Given the description of an element on the screen output the (x, y) to click on. 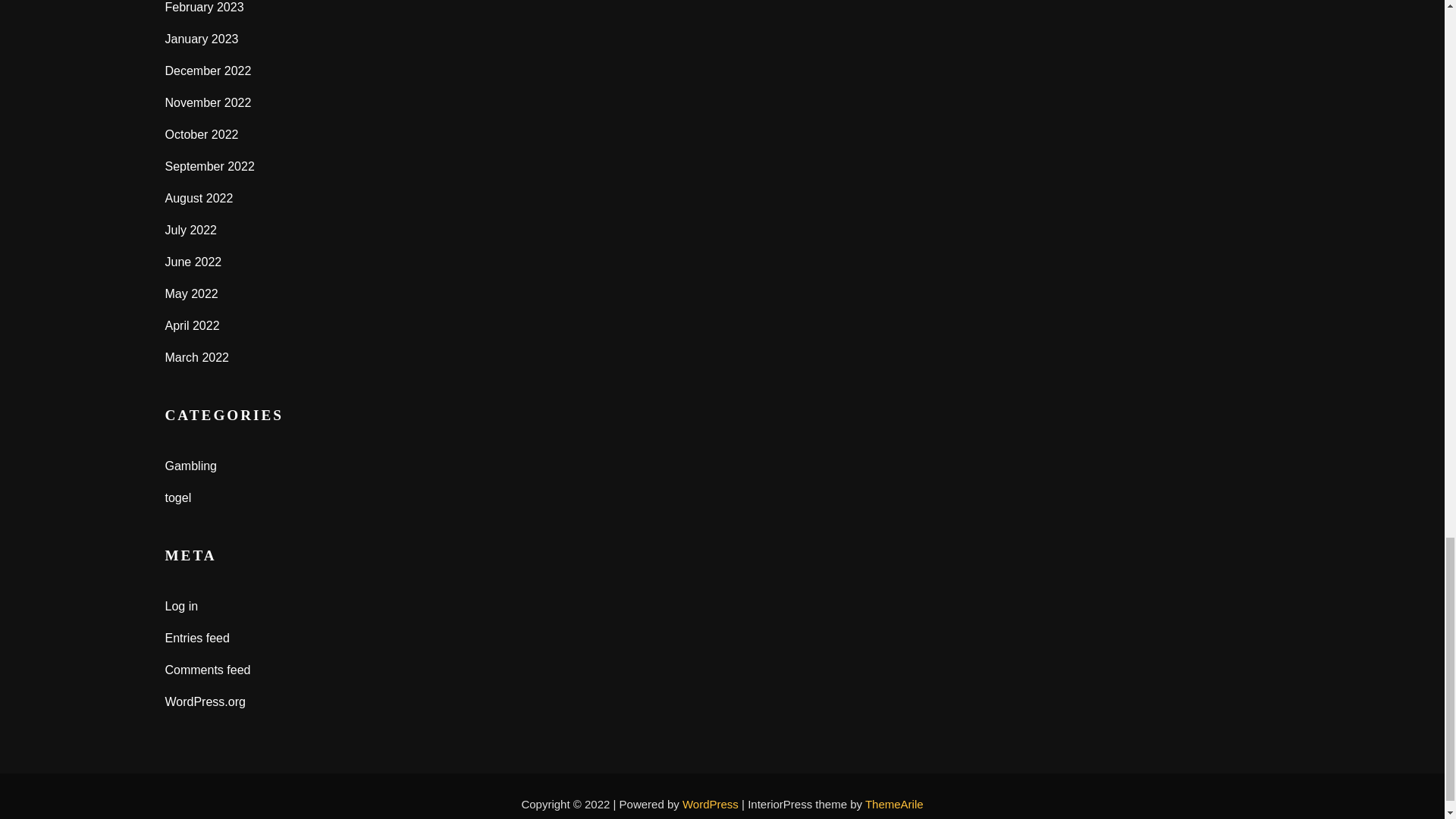
January 2023 (201, 38)
February 2023 (204, 6)
August 2022 (198, 197)
September 2022 (209, 165)
Gambling (190, 465)
April 2022 (192, 325)
December 2022 (208, 70)
November 2022 (208, 102)
July 2022 (190, 229)
June 2022 (193, 261)
May 2022 (191, 293)
October 2022 (201, 133)
March 2022 (197, 357)
